Given the description of an element on the screen output the (x, y) to click on. 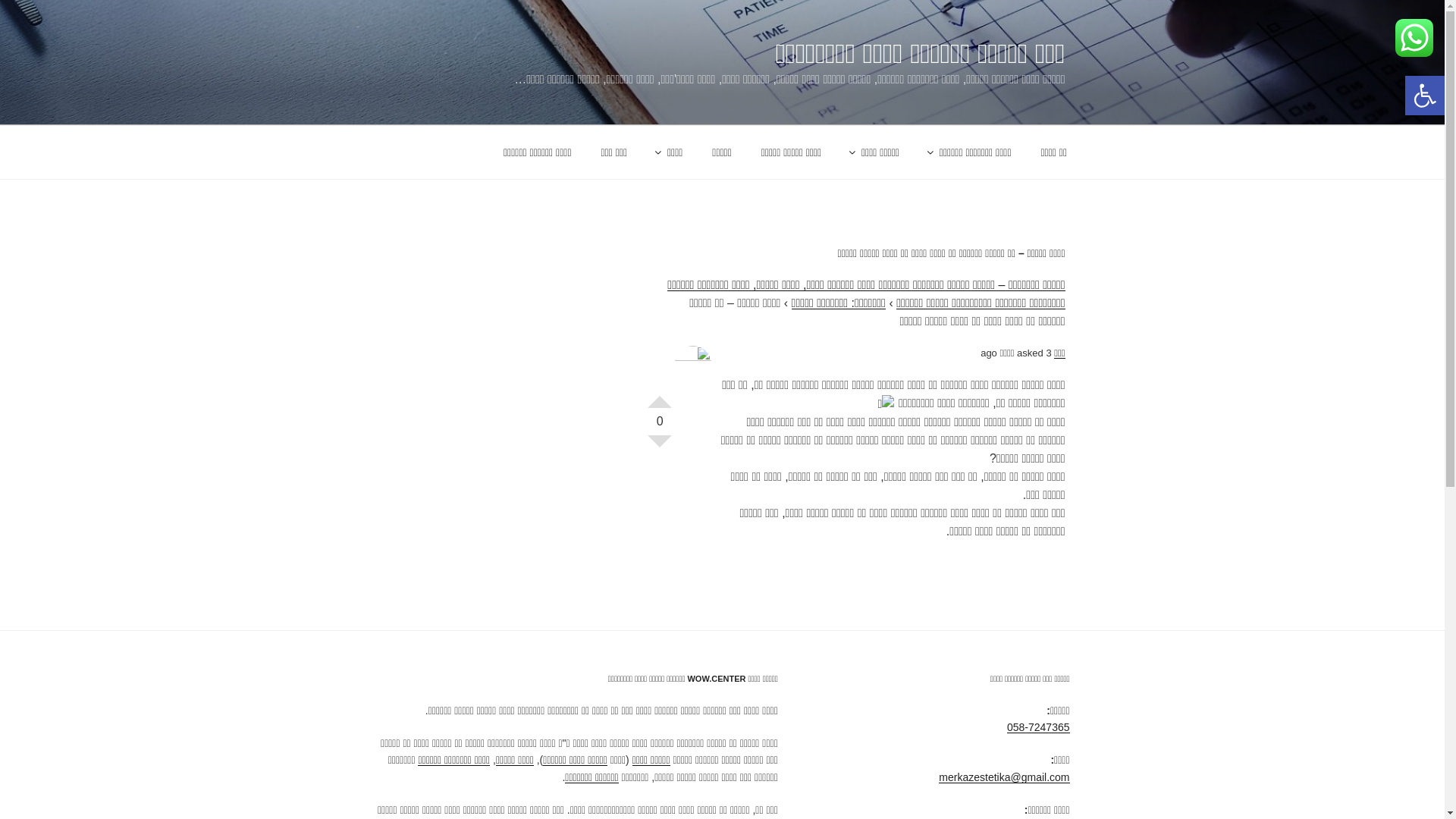
merkazestetika@gmail.com Element type: text (1003, 777)
058-7247365 Element type: text (1038, 727)
